Given the description of an element on the screen output the (x, y) to click on. 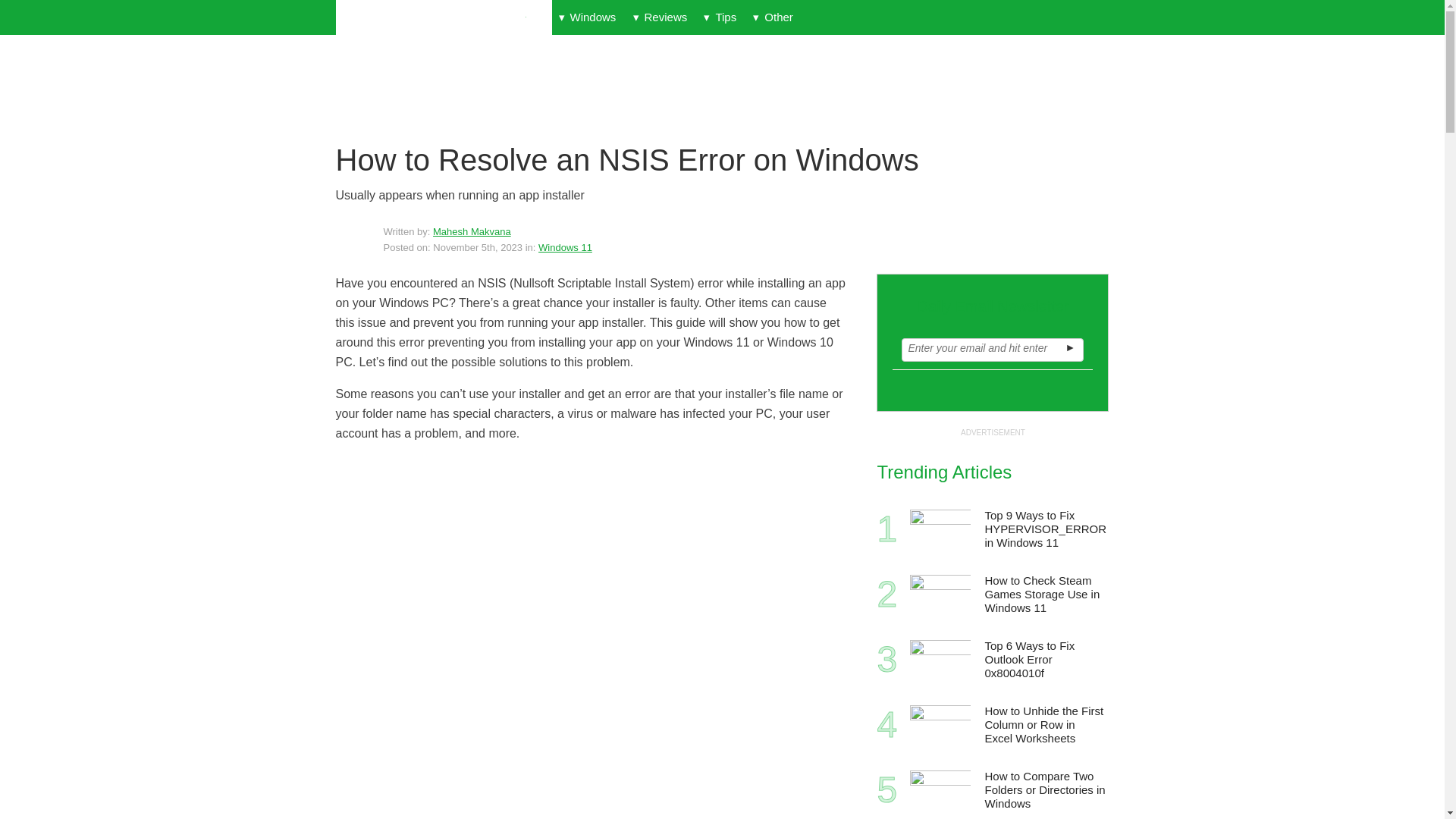
Reviews (660, 17)
Other (772, 17)
Help Desk Geek (443, 17)
Tips (719, 17)
Sunday, November 5, 2023, 6:00 am (477, 247)
Help Desk Geek (443, 17)
How to Unhide the First Column or Row in Excel Worksheets (940, 724)
Top 6 Ways to Fix Outlook Error 0x8004010f (940, 659)
How to Unhide the First Column or Row in Excel Worksheets (1044, 724)
Windows (587, 17)
